Given the description of an element on the screen output the (x, y) to click on. 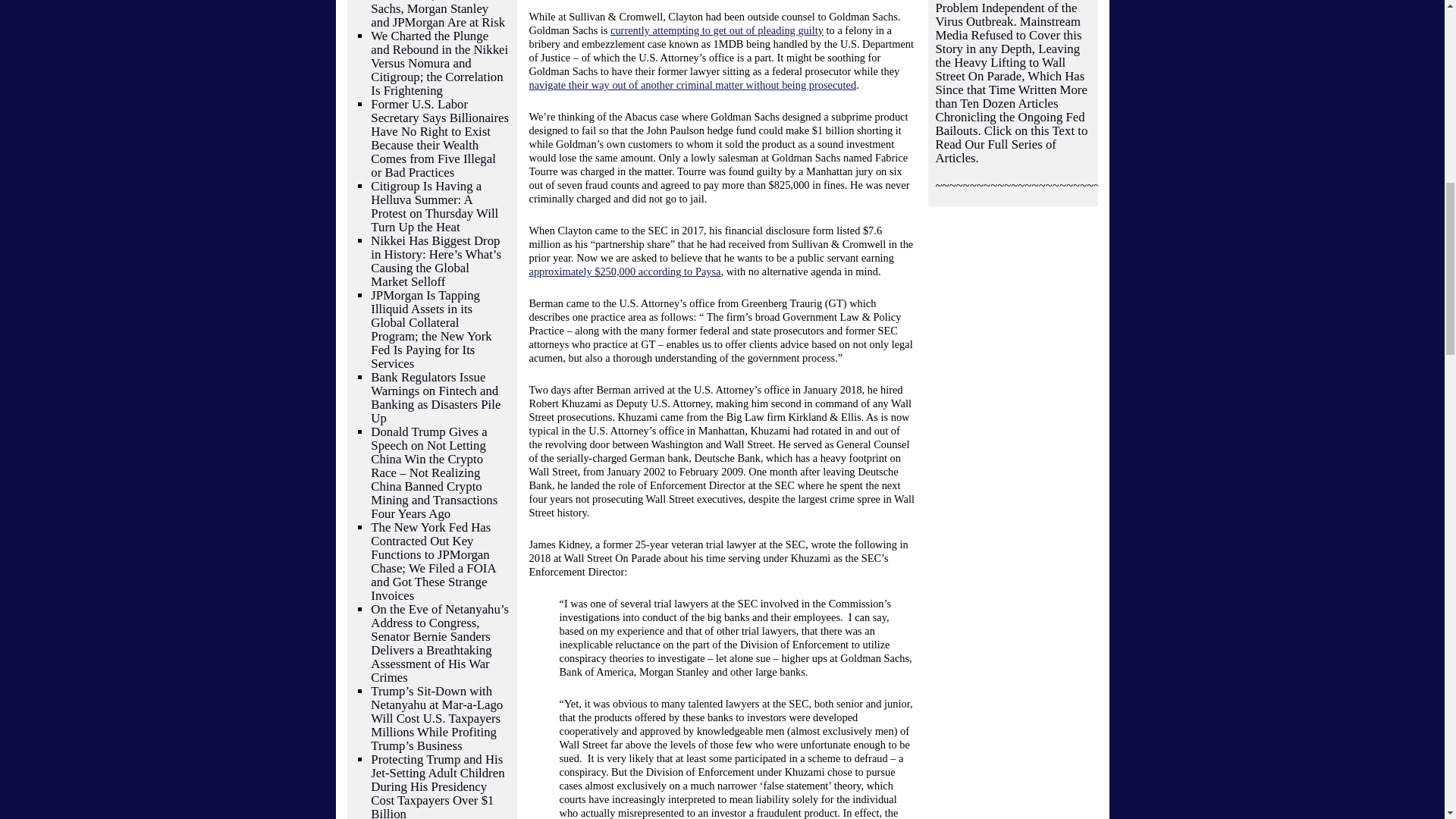
currently attempting to get out of pleading guilty (717, 30)
